Given the description of an element on the screen output the (x, y) to click on. 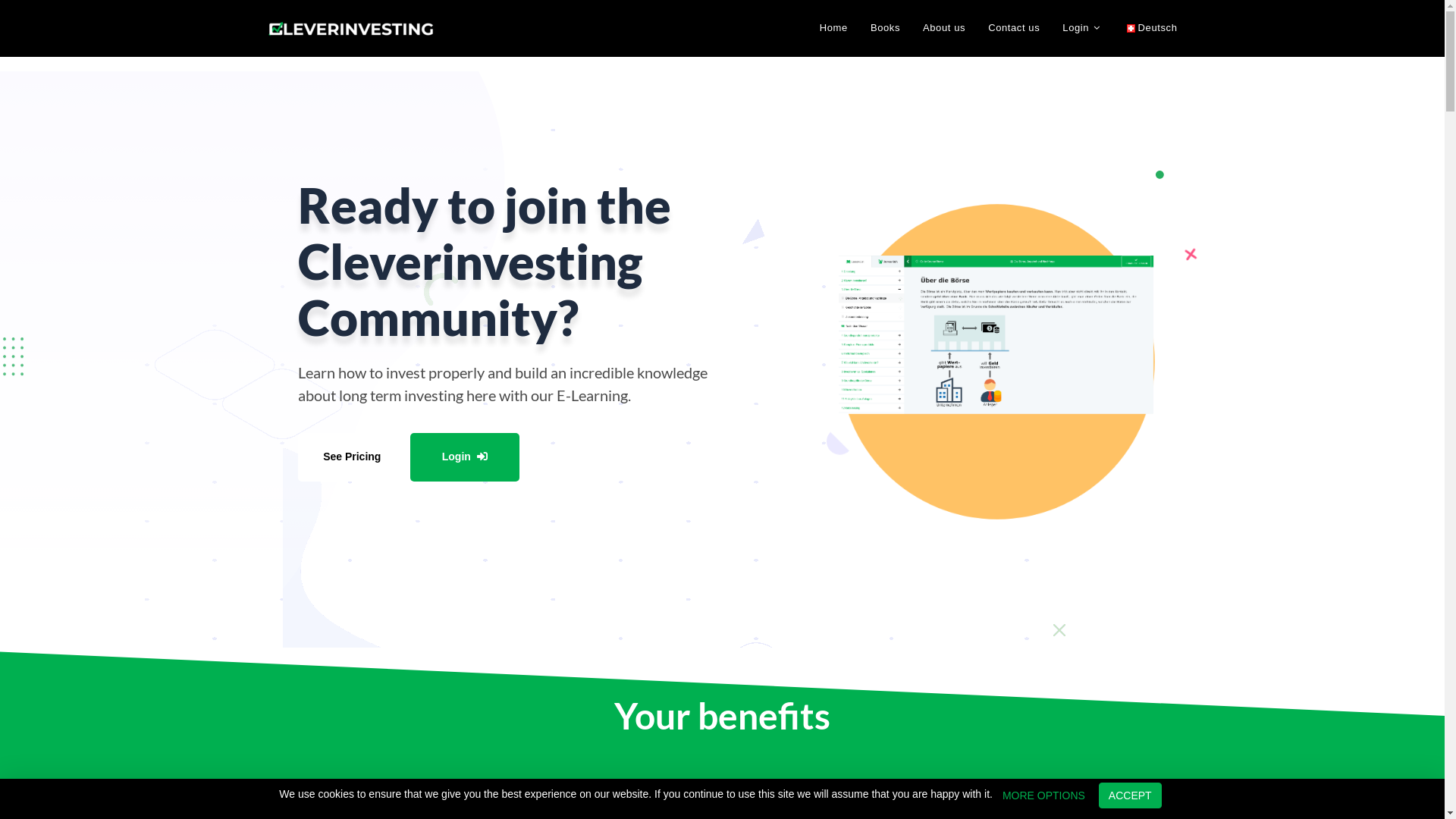
Contact us Element type: text (1013, 28)
Login Element type: text (464, 457)
See Pricing Element type: text (351, 457)
MORE OPTIONS Element type: text (1043, 795)
Deutsch Element type: text (1152, 28)
ACCEPT Element type: text (1129, 795)
Home Element type: text (833, 28)
About us Element type: text (943, 28)
Login Element type: text (1082, 28)
Books Element type: text (885, 28)
